Given the description of an element on the screen output the (x, y) to click on. 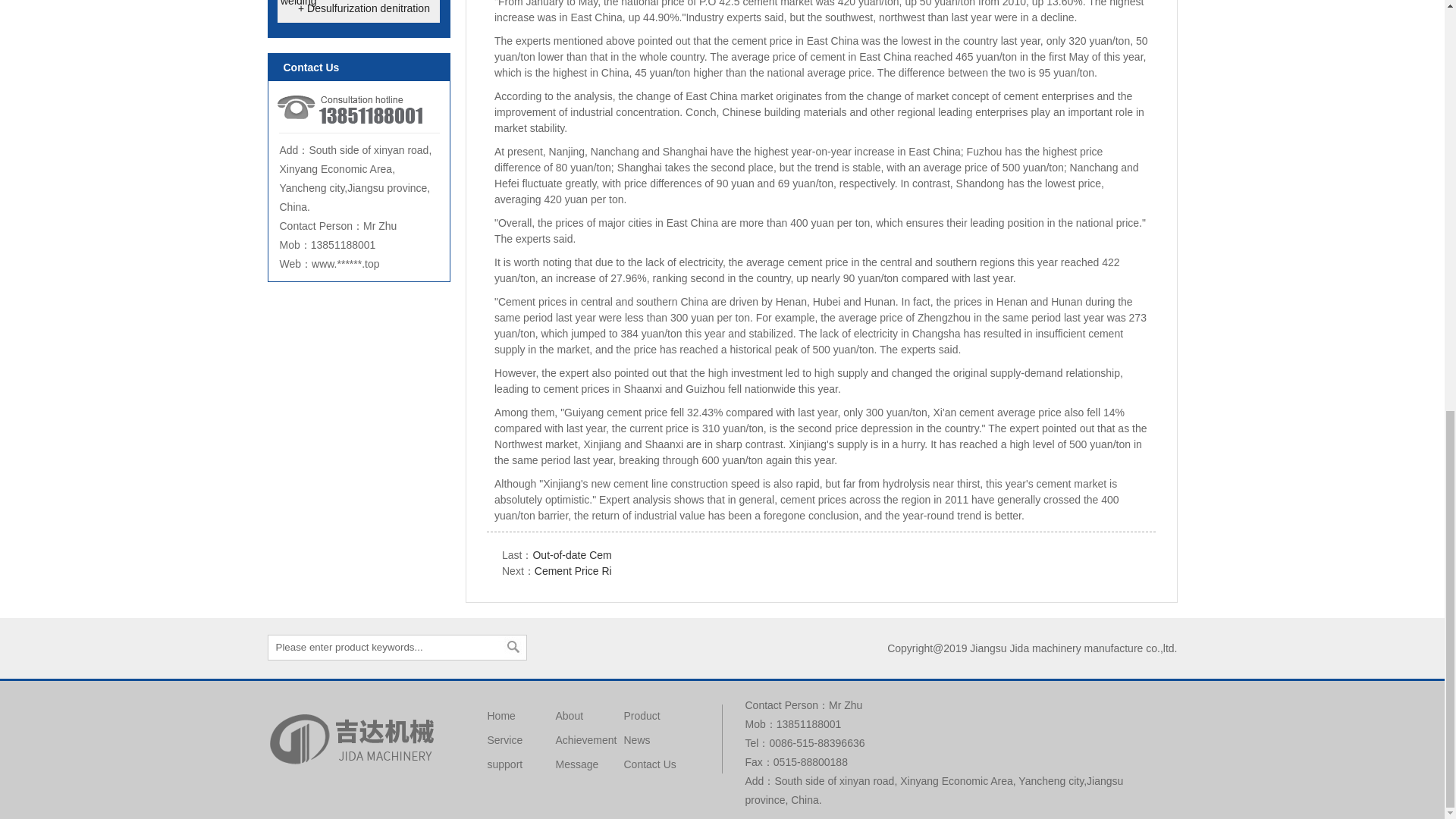
Please enter product keywords... (379, 647)
